Given the description of an element on the screen output the (x, y) to click on. 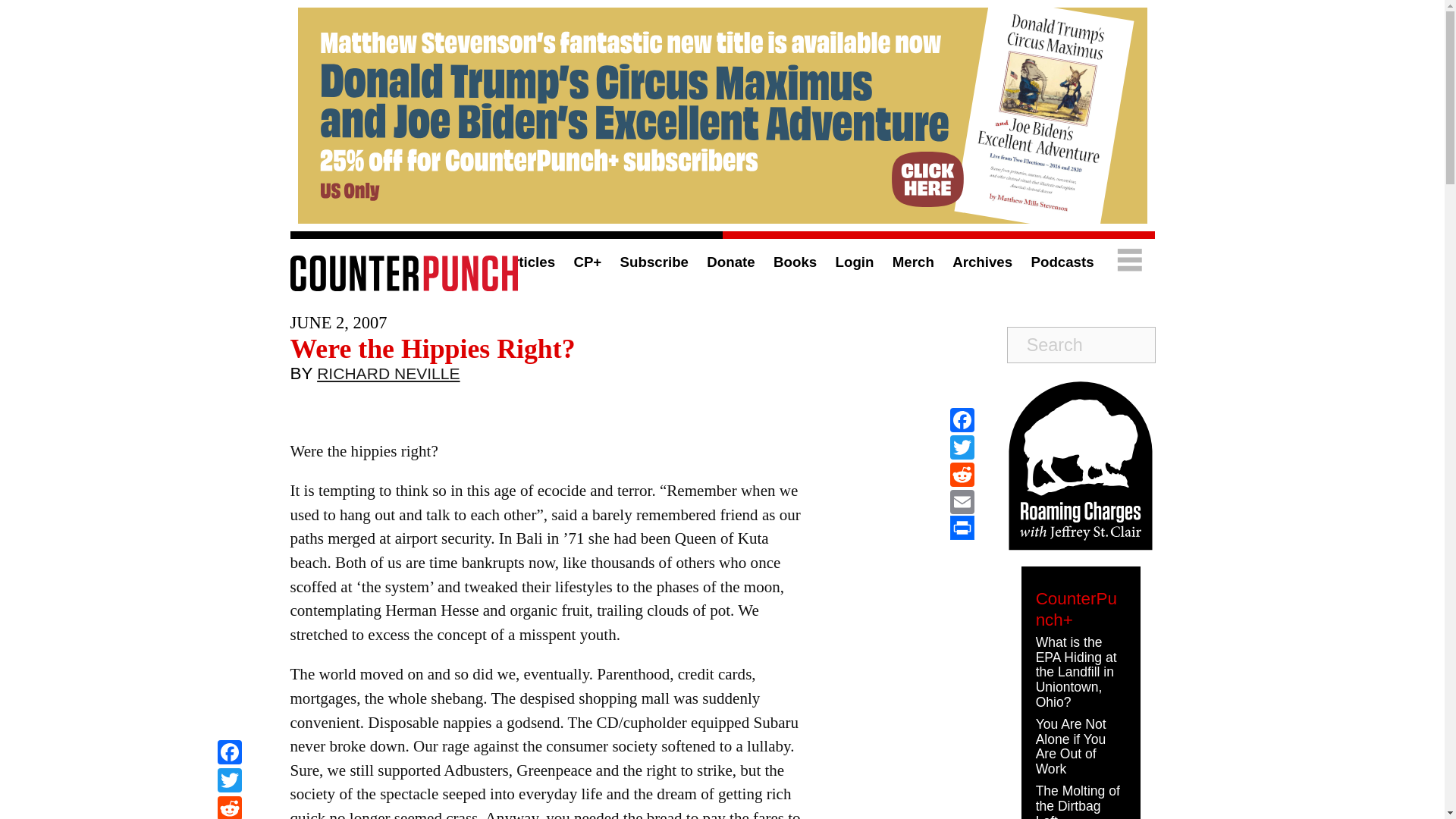
Twitter (229, 782)
Books (794, 261)
The Molting of the Dirtbag Left (1077, 800)
Facebook (229, 754)
What is the EPA Hiding at the Landfill in Uniontown, Ohio? (1075, 672)
Twitter (962, 447)
Email (962, 501)
Podcasts (1061, 261)
Archives (981, 261)
You Are Not Alone if You Are Out of Work (1070, 746)
Twitter (229, 782)
Facebook (229, 754)
Reddit (229, 807)
Merch (913, 261)
Articles (528, 261)
